Given the description of an element on the screen output the (x, y) to click on. 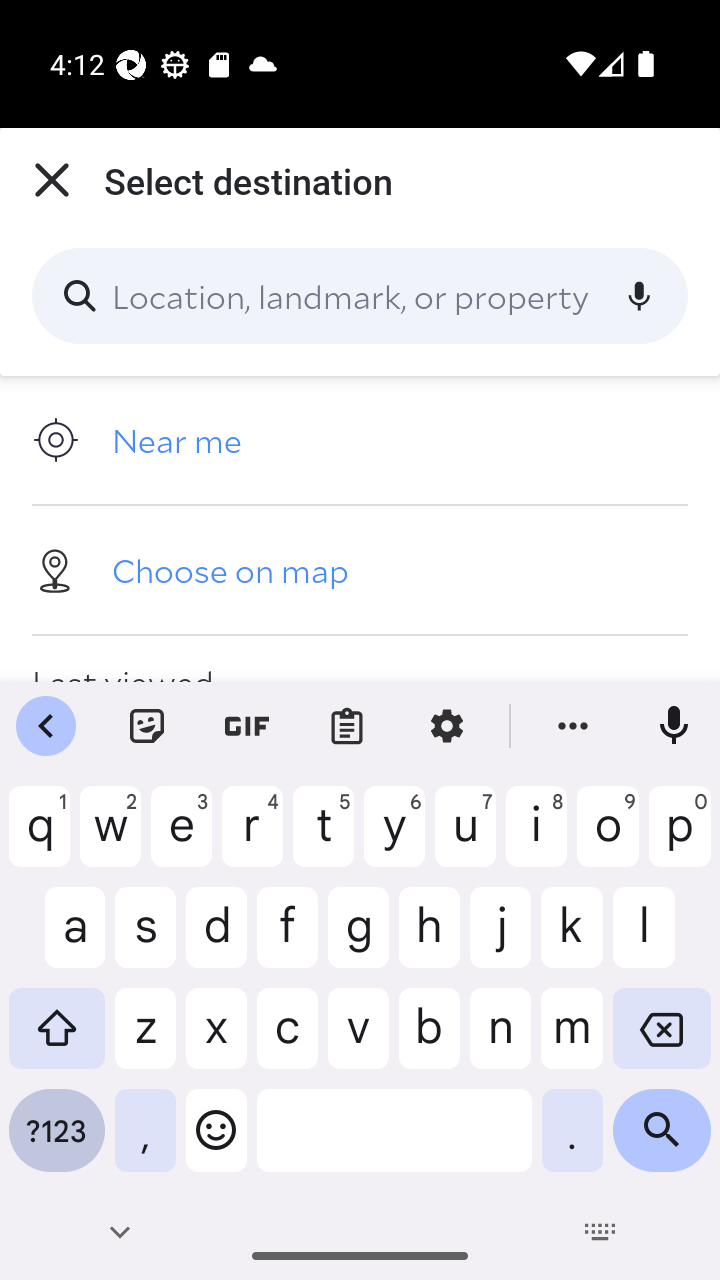
Location, landmark, or property (359, 296)
Near me (360, 440)
Choose on map (360, 569)
